Given the description of an element on the screen output the (x, y) to click on. 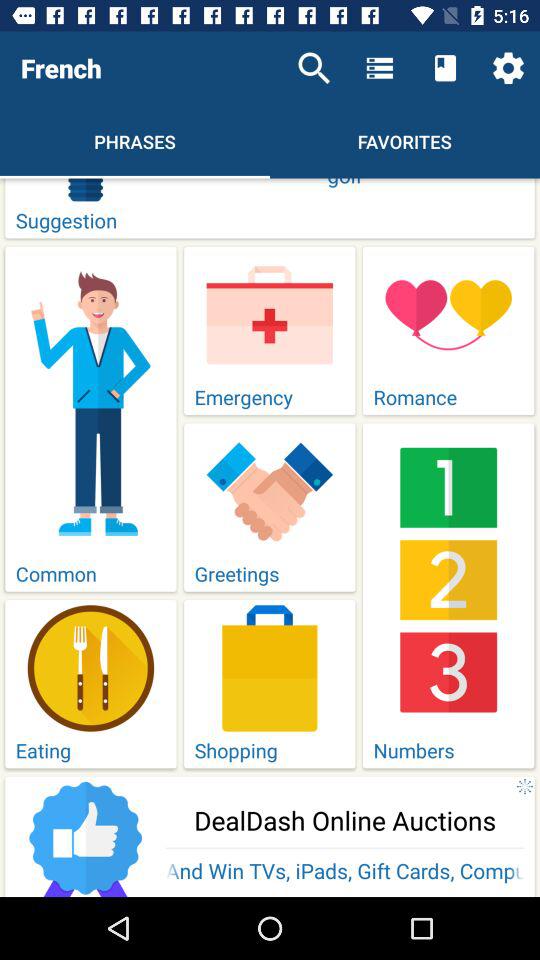
choose the icon next to the french (313, 67)
